Given the description of an element on the screen output the (x, y) to click on. 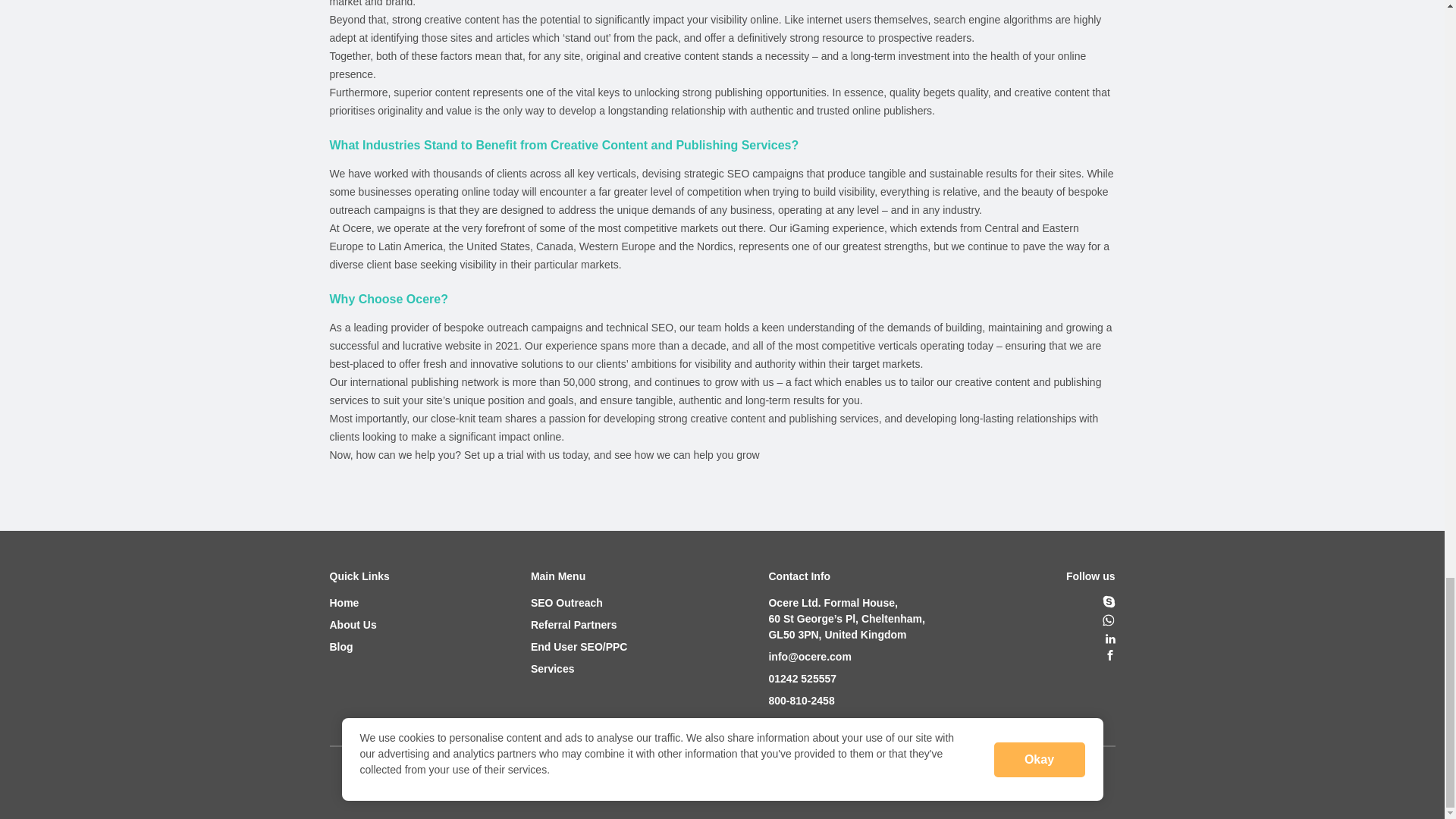
Blog (358, 647)
01242 525557 (846, 678)
SEO Outreach (579, 602)
Referral Partners (579, 625)
Services (579, 668)
800-810-2458 (846, 700)
About Us (358, 625)
Home (358, 602)
